Given the description of an element on the screen output the (x, y) to click on. 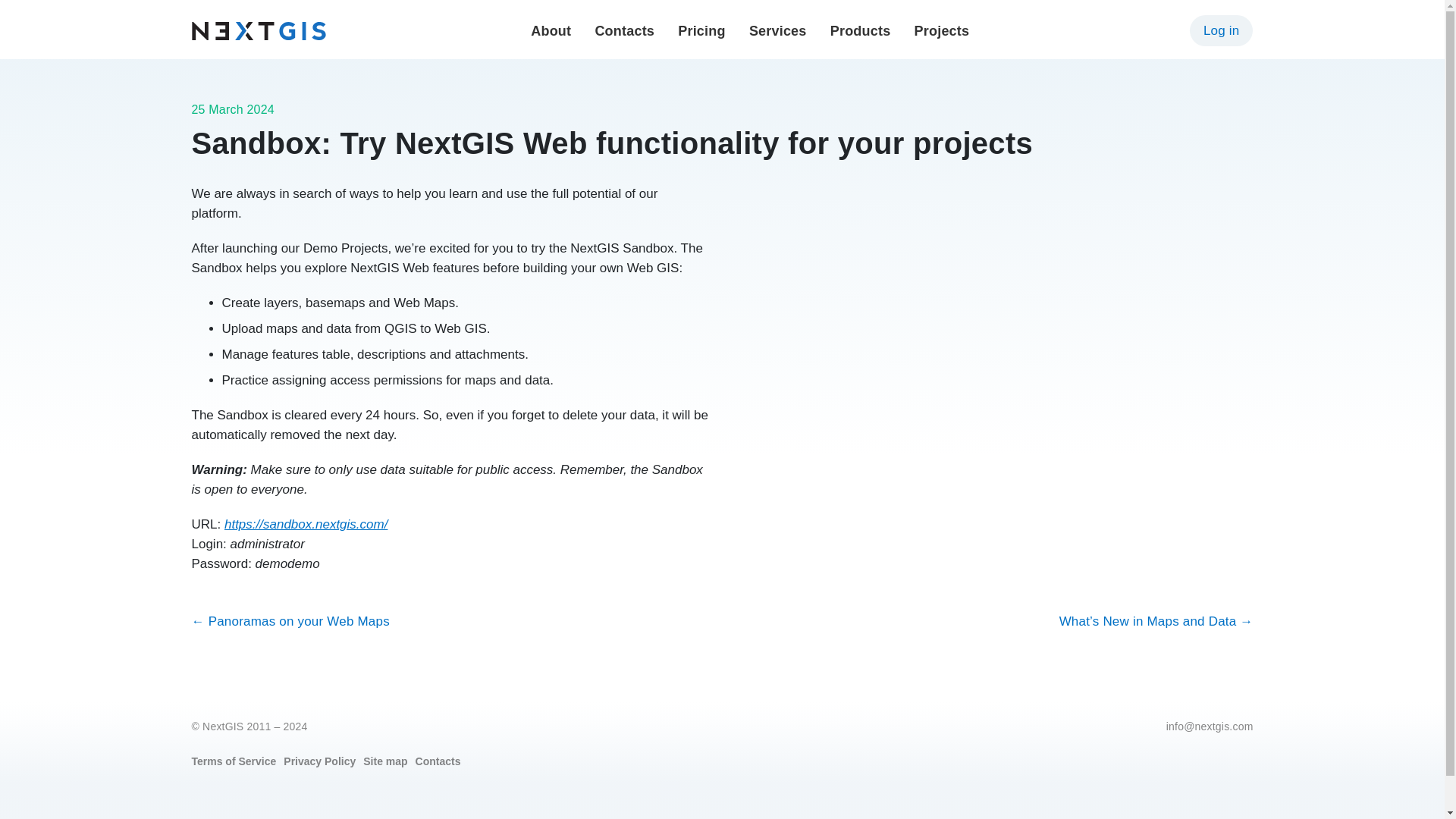
Services (777, 29)
Log in (1221, 30)
About (550, 29)
Projects (941, 29)
NextGIS (257, 30)
Contacts (623, 29)
Pricing (701, 29)
Products (860, 29)
